Given the description of an element on the screen output the (x, y) to click on. 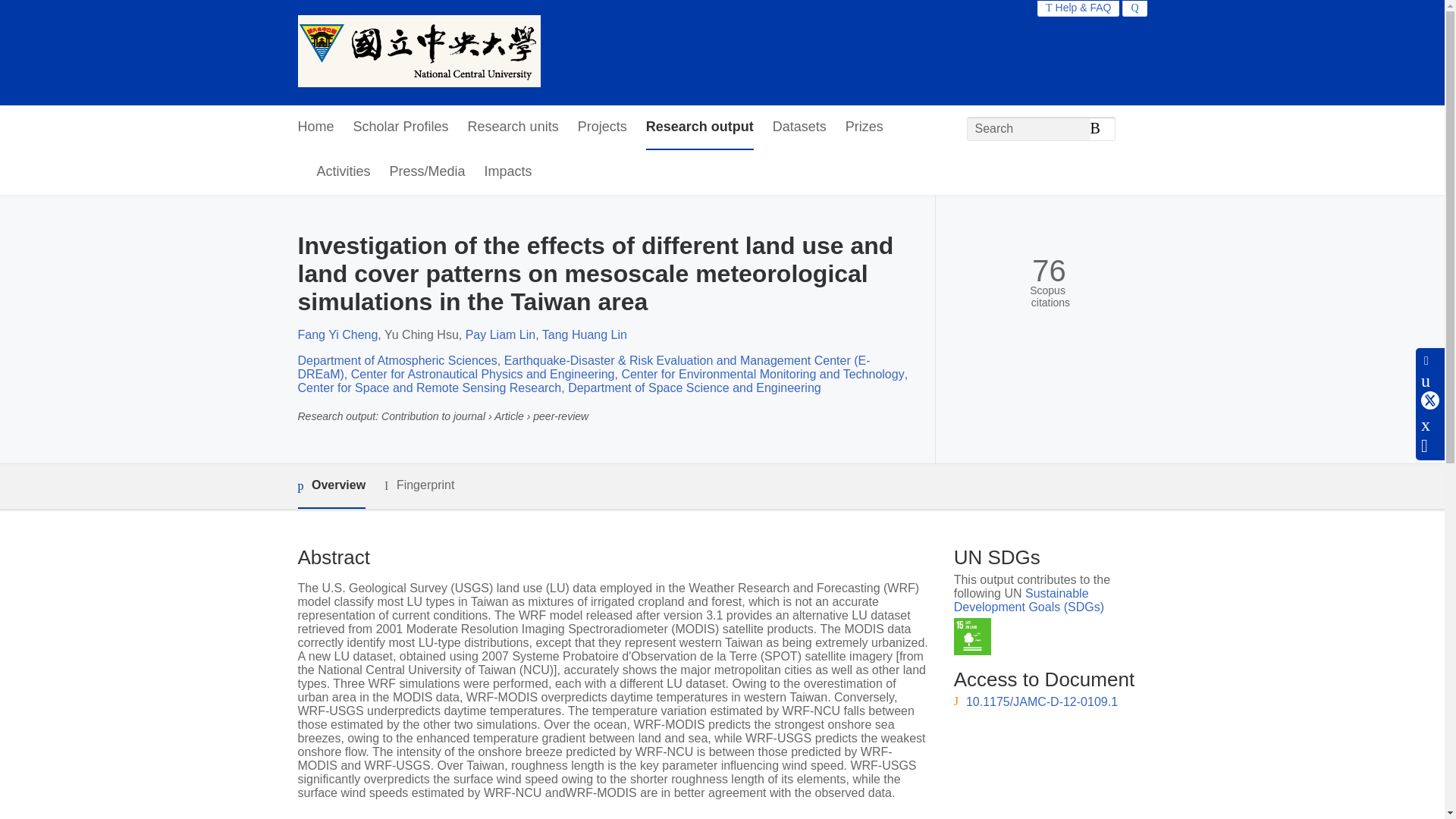
Center for Astronautical Physics and Engineering (482, 373)
Department of Space Science and Engineering (694, 387)
National Central University Home (418, 52)
Fang Yi Cheng (337, 334)
Projects (602, 127)
Datasets (800, 127)
Scholar Profiles (400, 127)
Center for Environmental Monitoring and Technology (762, 373)
Tang Huang Lin (584, 334)
